Given the description of an element on the screen output the (x, y) to click on. 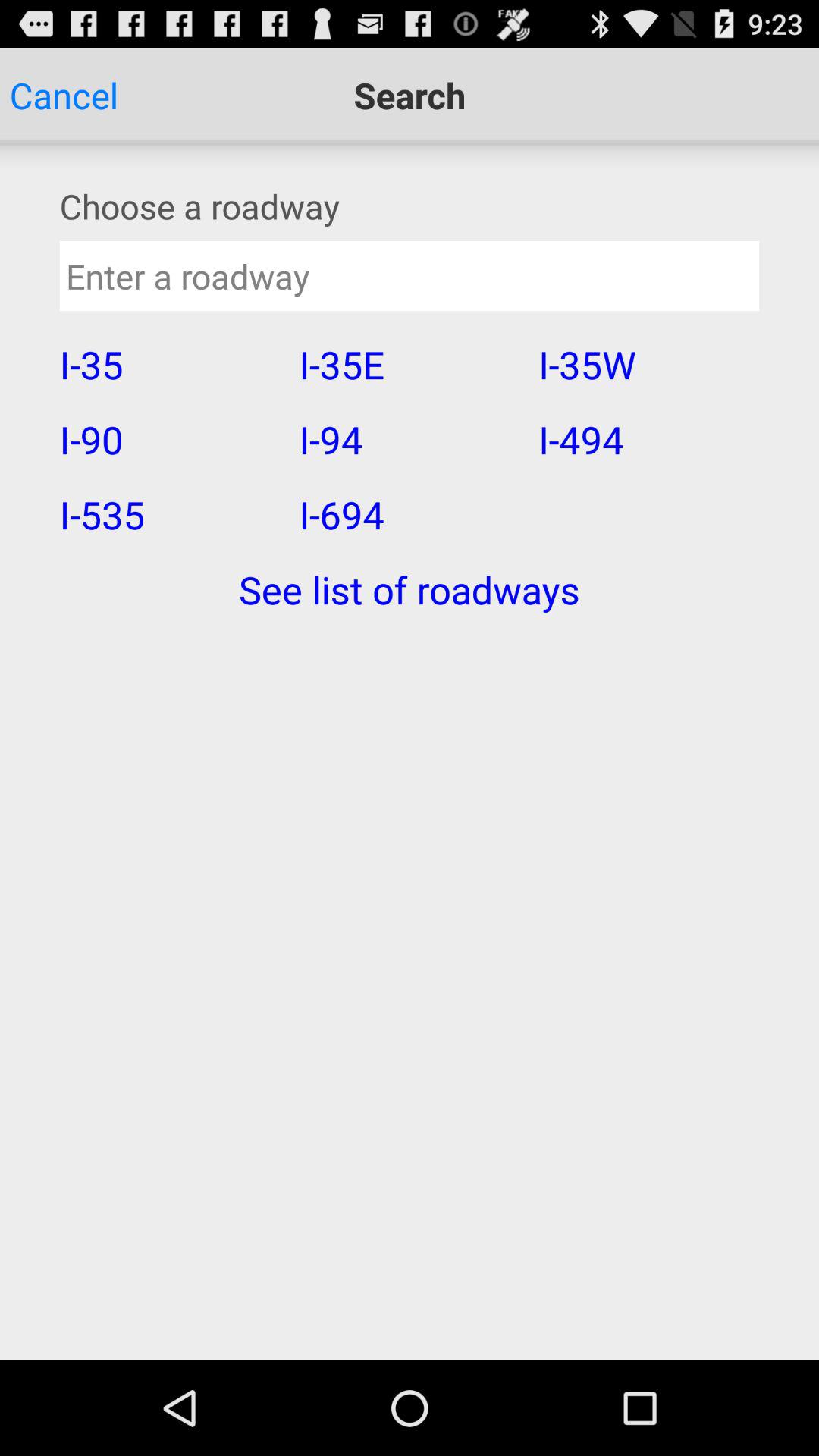
enter road way info (409, 276)
